Given the description of an element on the screen output the (x, y) to click on. 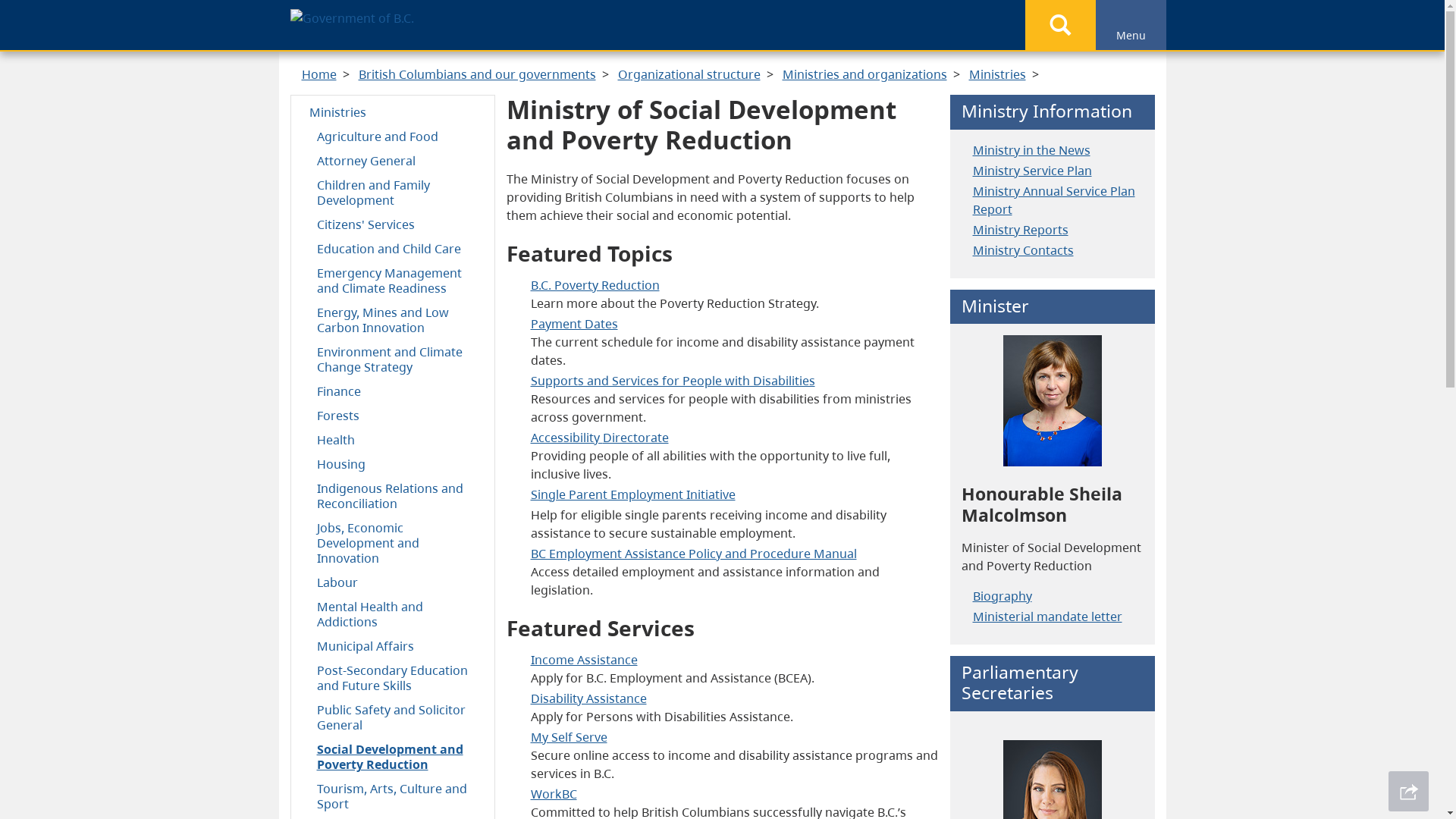
BC Employment Assistance Policy and Procedure Manual Element type: text (693, 553)
WorkBC Element type: text (553, 793)
Biography Element type: text (1001, 595)
Citizens' Services Element type: text (392, 223)
Post-Secondary Education and Future Skills Element type: text (392, 677)
Government of B.C. Element type: hover (351, 18)
Home Element type: text (318, 73)
Mental Health and Addictions Element type: text (392, 613)
Labour Element type: text (392, 581)
Single Parent Employment Initiative Element type: text (632, 494)
Ministry in the News Element type: text (1030, 149)
Tourism, Arts, Culture and Sport Element type: text (392, 795)
Share This Page Element type: hover (1408, 791)
Agriculture and Food Element type: text (392, 135)
Supports and Services for People with Disabilities Element type: text (672, 380)
Ministerial mandate letter Element type: text (1046, 616)
British Columbians and our governments Element type: text (476, 73)
My Self Serve Element type: text (568, 736)
Organizational structure Element type: text (688, 73)
Ministry Service Plan Element type: text (1031, 170)
Ministries Element type: text (392, 111)
Emergency Management and Climate Readiness Element type: text (392, 279)
Children and Family Development Element type: text (392, 191)
Disability Assistance Element type: text (588, 698)
Forests Element type: text (392, 414)
Ministries Element type: text (997, 73)
Ministry Annual Service Plan Report Element type: text (1053, 199)
Municipal Affairs Element type: text (392, 645)
Ministry Reports Element type: text (1019, 229)
Education and Child Care Element type: text (392, 247)
Energy, Mines and Low Carbon Innovation Element type: text (392, 319)
Payment Dates Element type: text (574, 323)
Health Element type: text (392, 438)
Attorney General Element type: text (392, 159)
Finance Element type: text (392, 390)
Environment and Climate Change Strategy Element type: text (392, 358)
Directorate Element type: text (635, 437)
B.C. Poverty Reduction Element type: text (594, 284)
Income Assistance Element type: text (583, 658)
Ministries and organizations Element type: text (864, 73)
Jobs, Economic Development and Innovation Element type: text (392, 541)
Menu Element type: text (1130, 25)
Housing Element type: text (392, 463)
Accessibility  Element type: text (566, 437)
Public Safety and Solicitor General Element type: text (392, 716)
Social Development and Poverty Reduction Element type: text (392, 755)
Indigenous Relations and Reconciliation Element type: text (392, 495)
Ministry Contacts Element type: text (1022, 249)
